Given the description of an element on the screen output the (x, y) to click on. 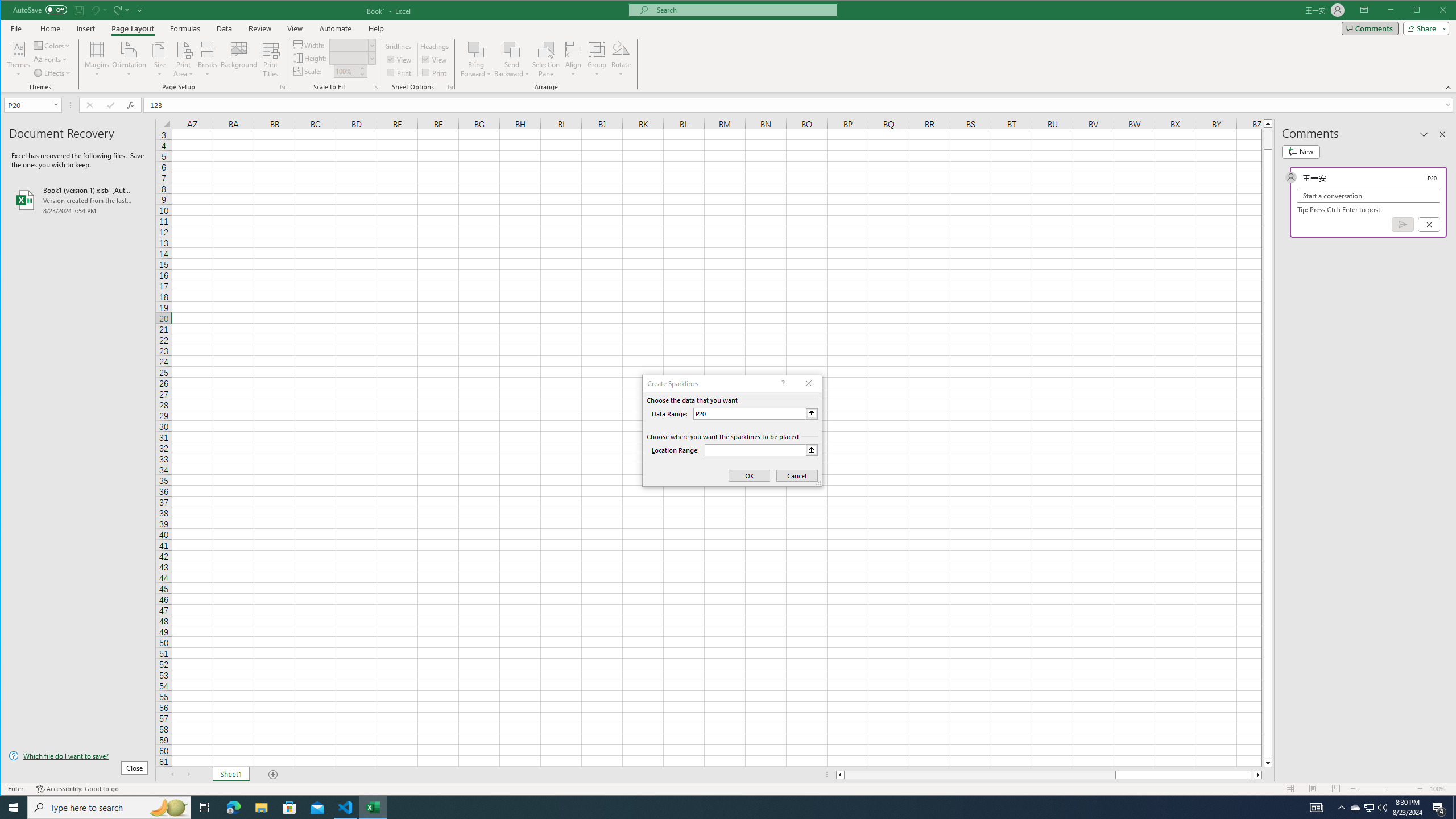
Start a conversation (1368, 195)
Margins (96, 59)
Colors (53, 45)
Print Titles (270, 59)
Send Backward (512, 48)
Width (349, 45)
